Given the description of an element on the screen output the (x, y) to click on. 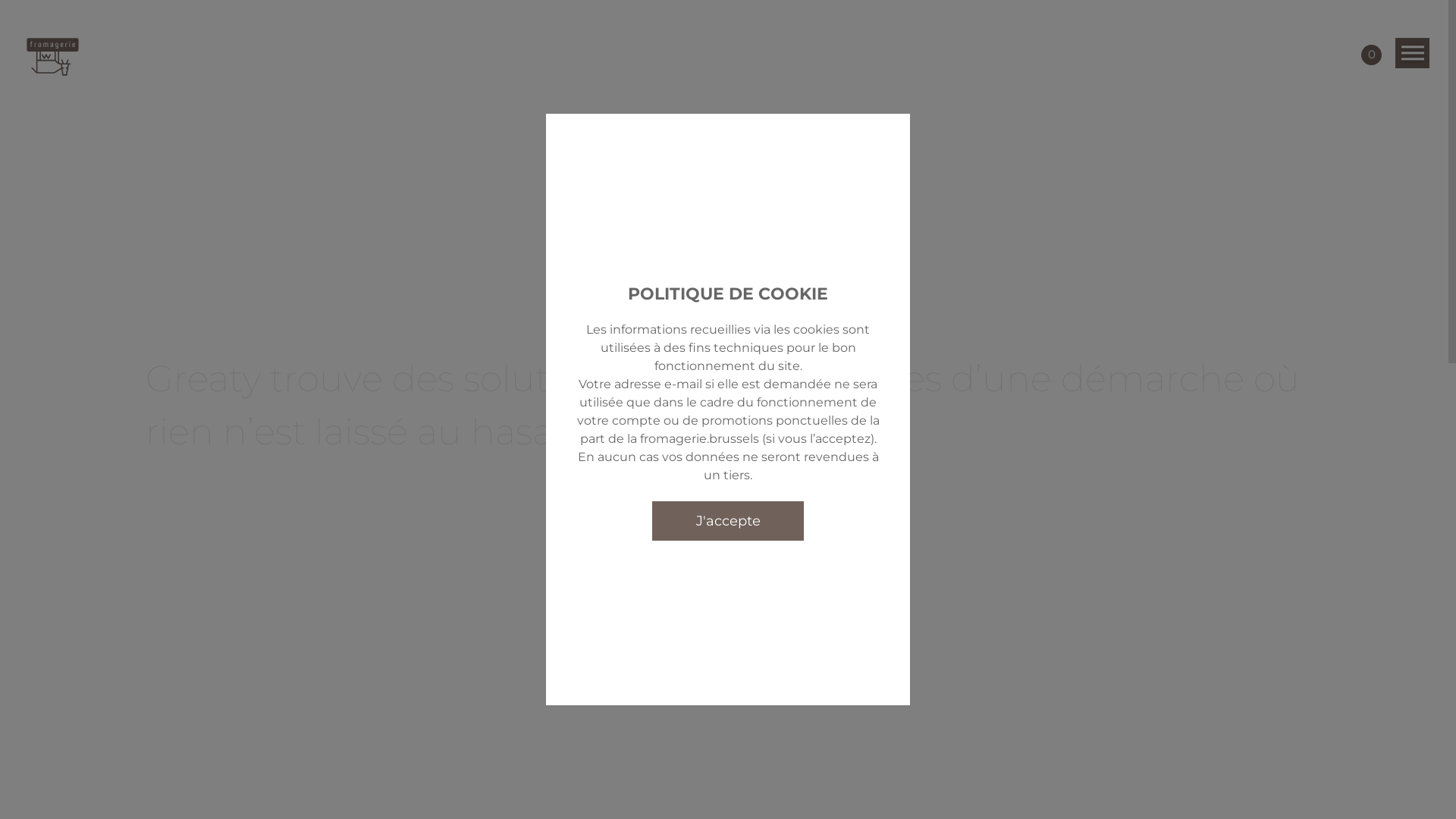
J'accepte Element type: text (727, 519)
